Given the description of an element on the screen output the (x, y) to click on. 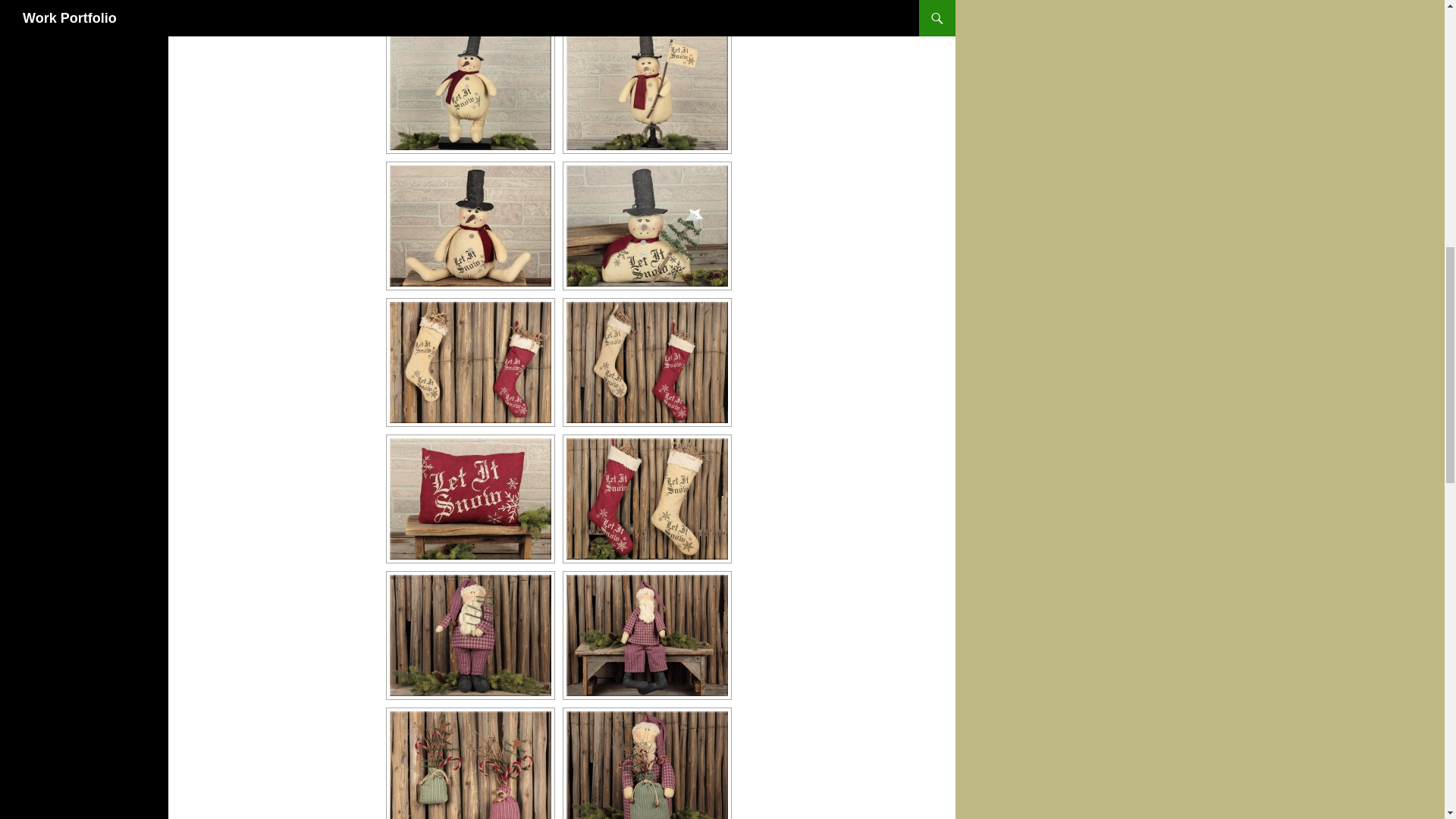
C14104 (647, 88)
C14103 (470, 88)
C14102 (647, 6)
C14105 (470, 225)
